Given the description of an element on the screen output the (x, y) to click on. 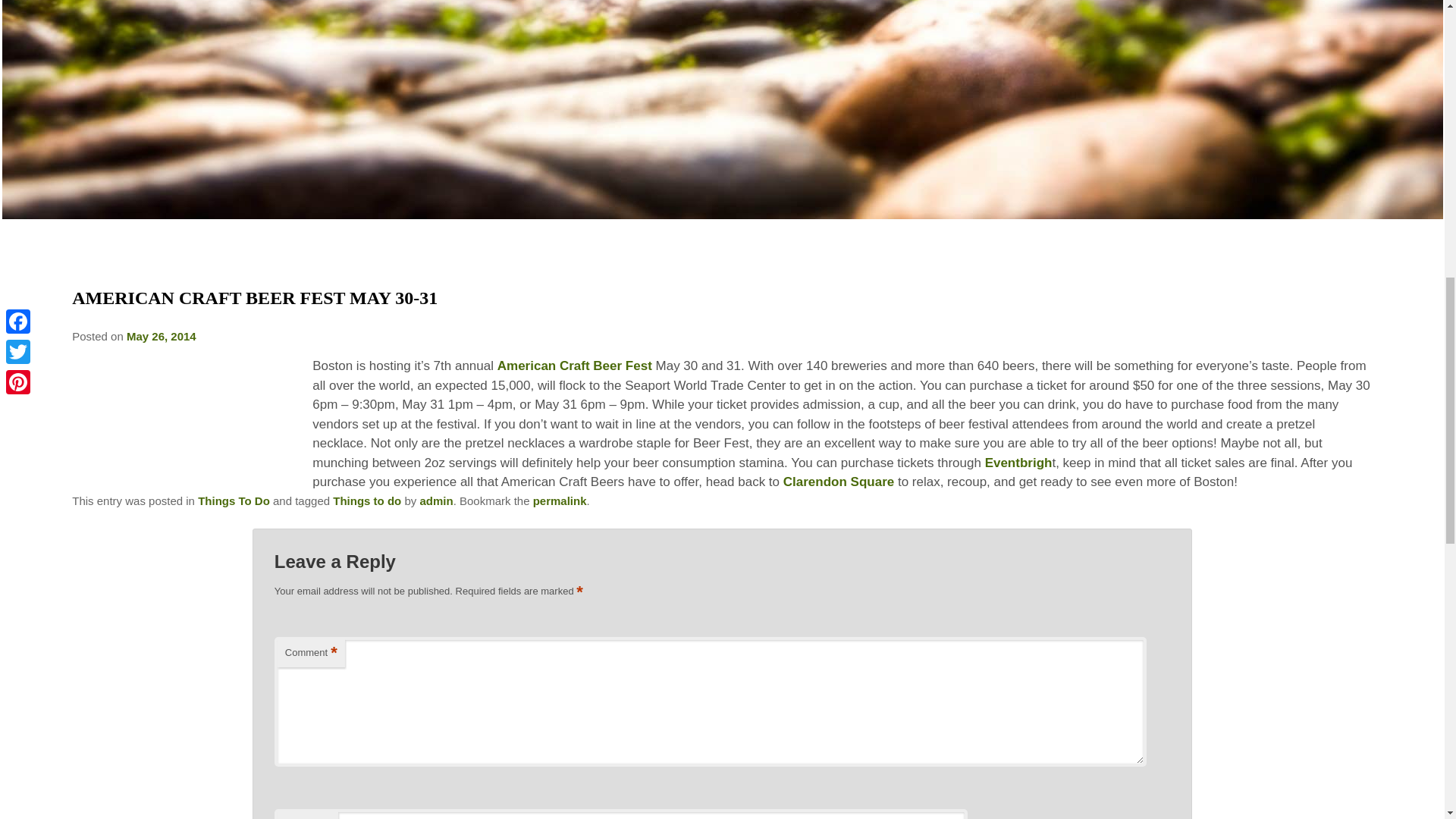
6:51 pm (161, 336)
Permalink to American Craft Beer Fest May 30-31 (559, 500)
